Given the description of an element on the screen output the (x, y) to click on. 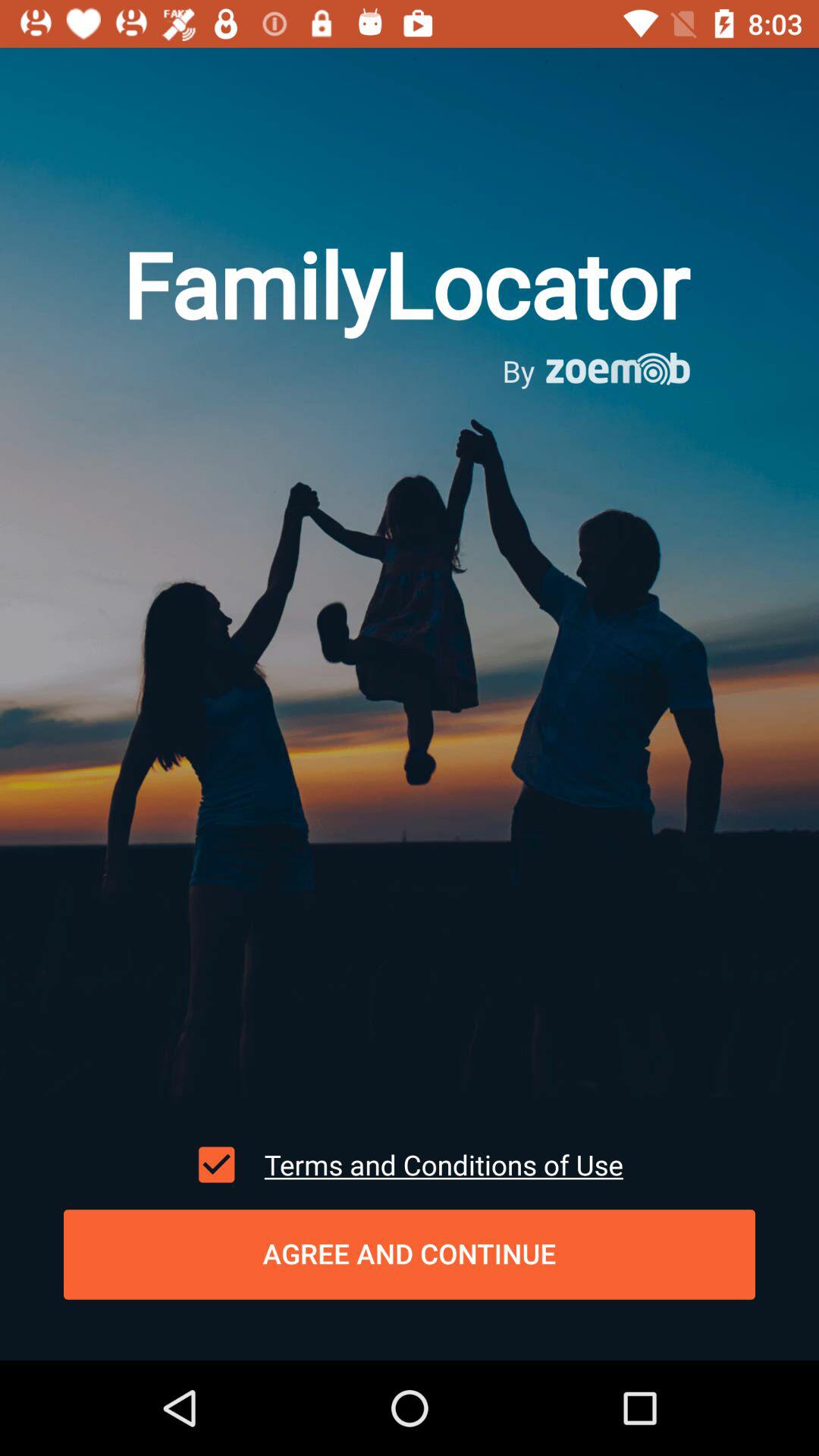
press item to the left of the terms and conditions icon (216, 1164)
